Given the description of an element on the screen output the (x, y) to click on. 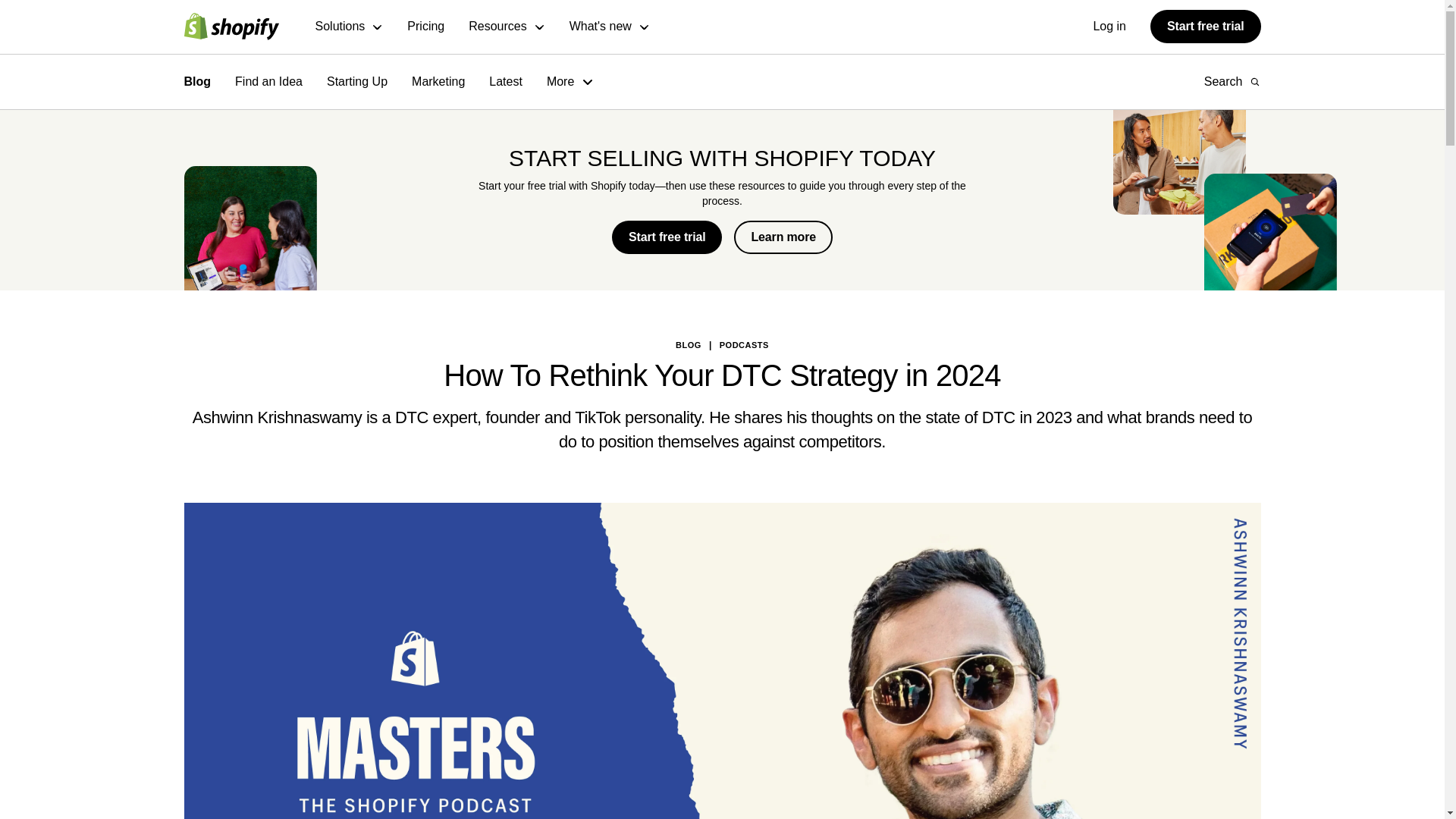
Solutions (349, 27)
Resources (506, 27)
